Given the description of an element on the screen output the (x, y) to click on. 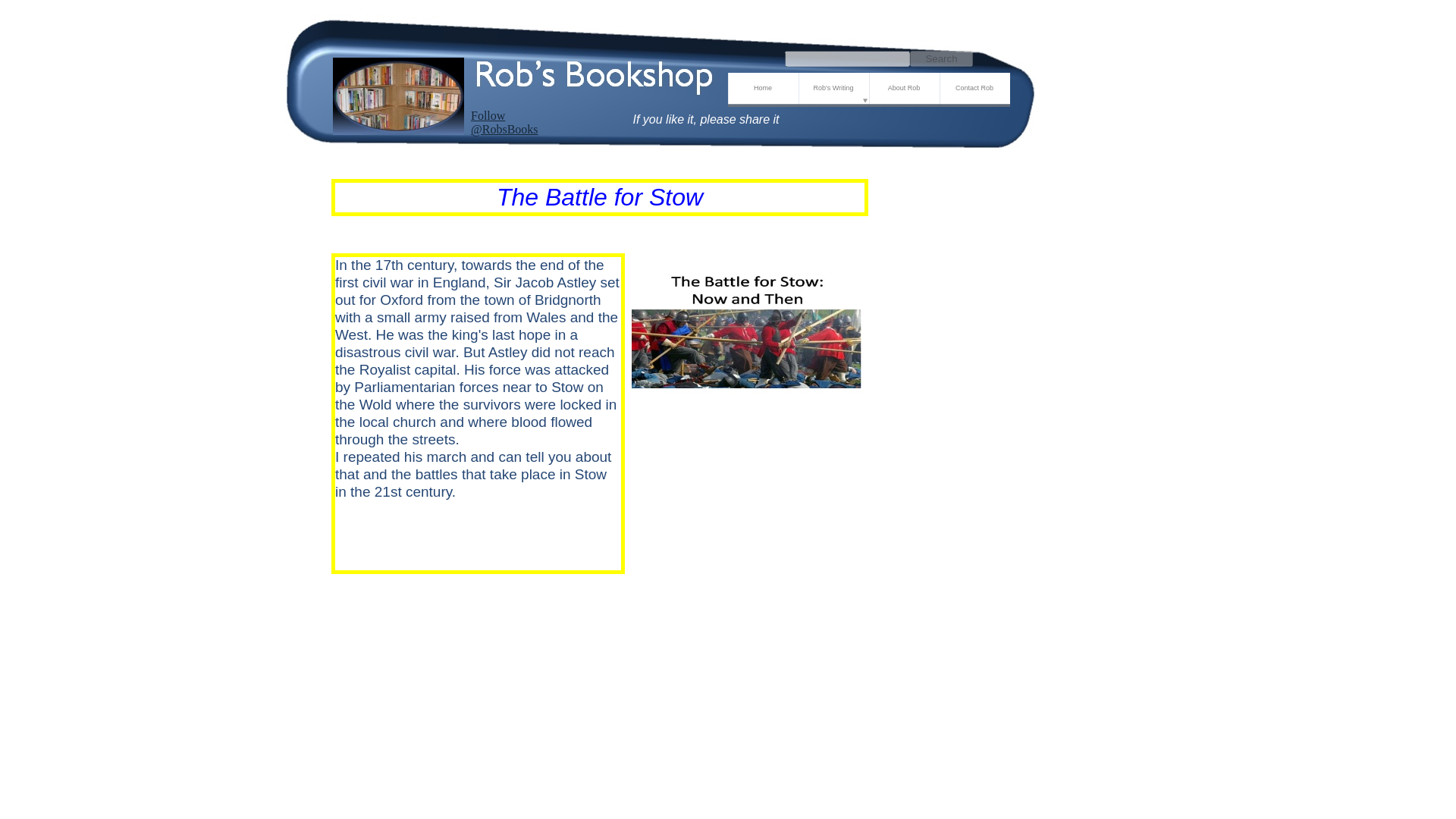
Home (762, 89)
Search (941, 58)
About Rob (904, 89)
Rob's Writing (833, 89)
Contact Rob (974, 89)
